Given the description of an element on the screen output the (x, y) to click on. 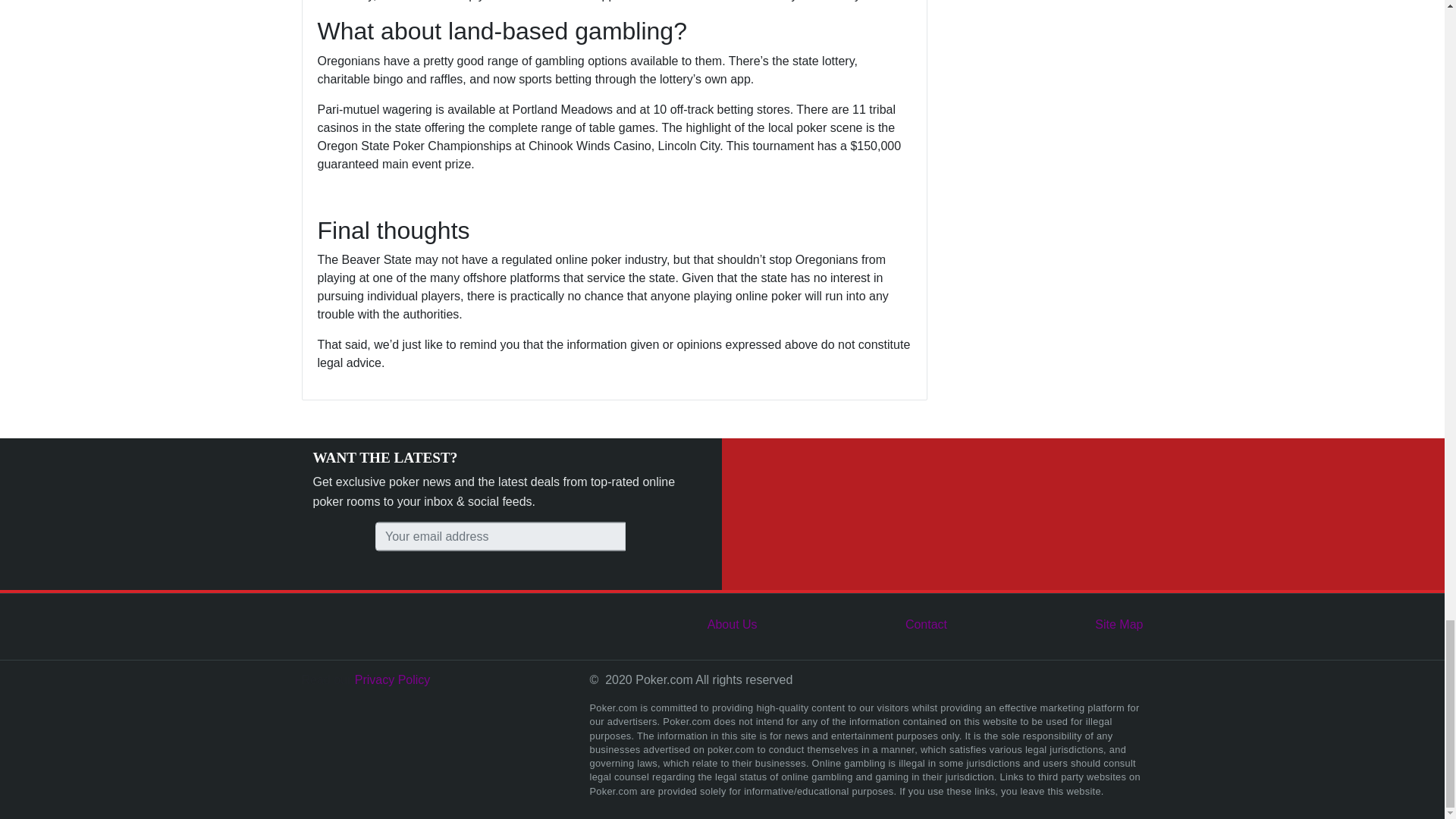
Newsletter (500, 536)
Contact (926, 624)
About (732, 624)
Contact (926, 624)
About Us (732, 624)
Site Map (1118, 624)
